Given the description of an element on the screen output the (x, y) to click on. 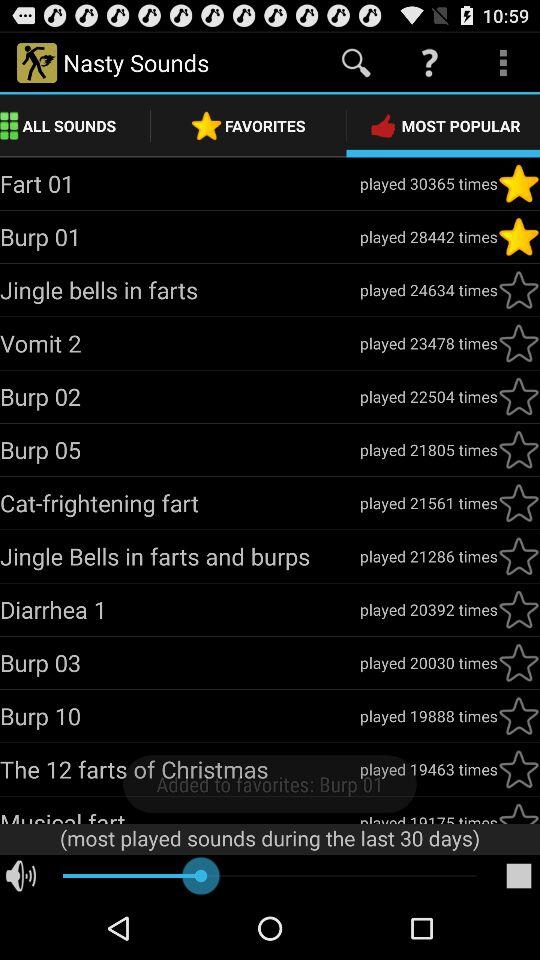
press the item below most played sounds icon (518, 875)
